Given the description of an element on the screen output the (x, y) to click on. 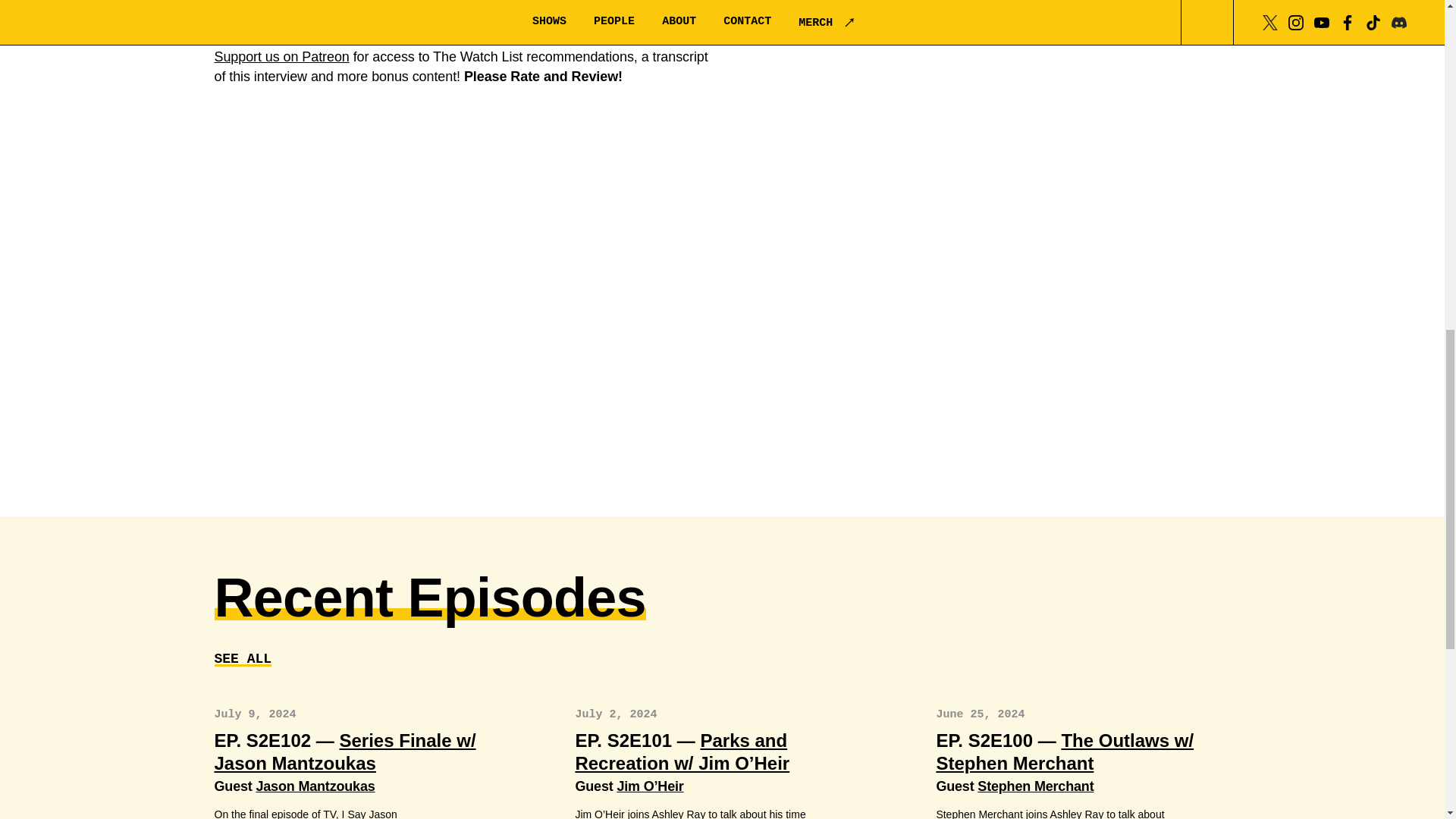
Open Artwork Gallery (724, 307)
RaFia (386, 2)
Instagram (364, 37)
Twitter (297, 37)
Chastity Hyman (329, 17)
